Given the description of an element on the screen output the (x, y) to click on. 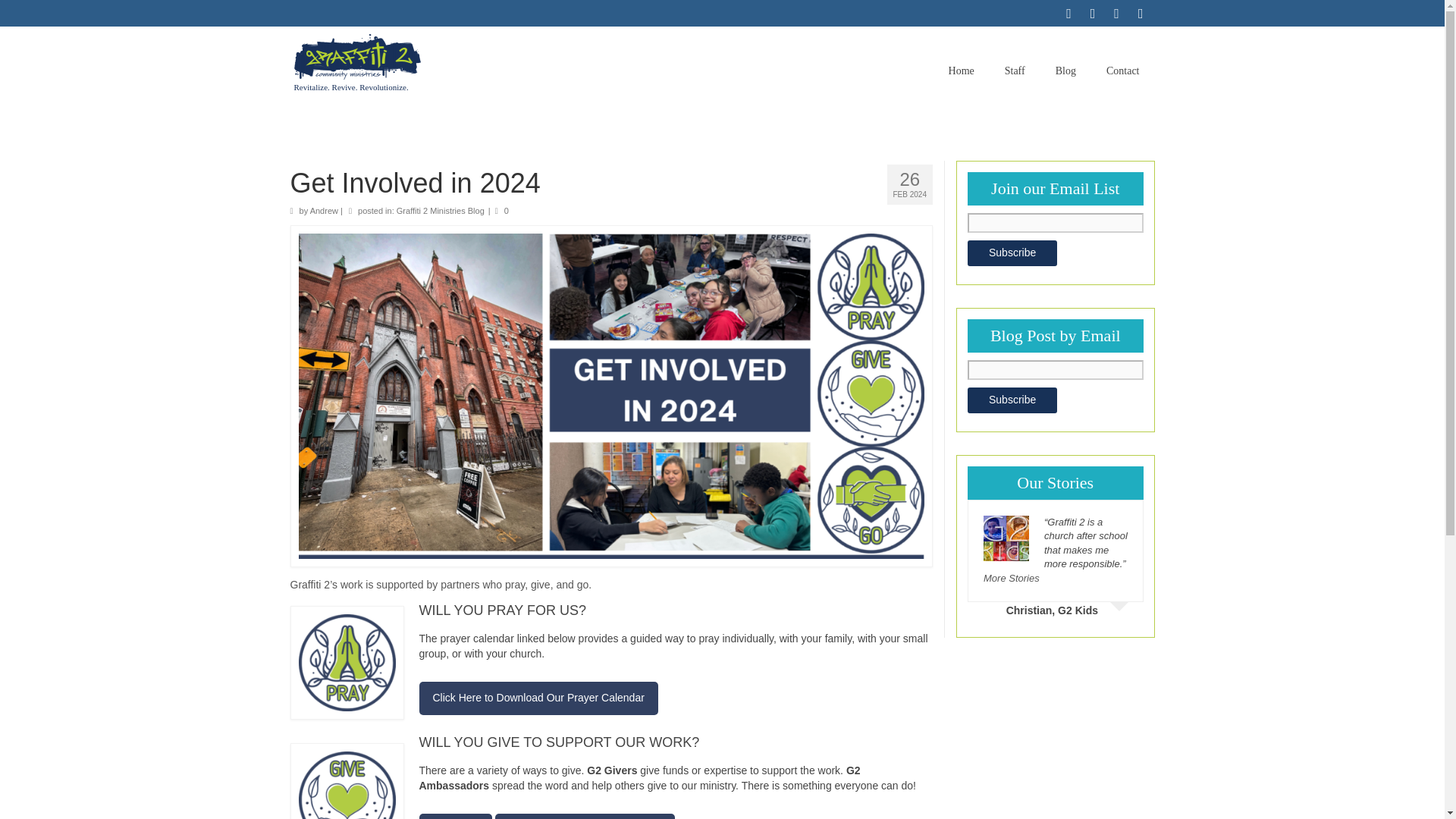
Contact (1122, 70)
Click Here to Find Ways To Give (585, 816)
Subscribe (1012, 253)
Graffiti 2 Community Ministries (428, 56)
Programs (503, 125)
Staff (1015, 70)
Home (961, 70)
Give Now (455, 816)
0 (501, 210)
Subscribe (1012, 400)
Andrew (323, 210)
Click Here to Download Our Prayer Calendar (538, 697)
Give (788, 125)
Get Involved (646, 125)
Graffiti 2 Ministries Blog (440, 210)
